Given the description of an element on the screen output the (x, y) to click on. 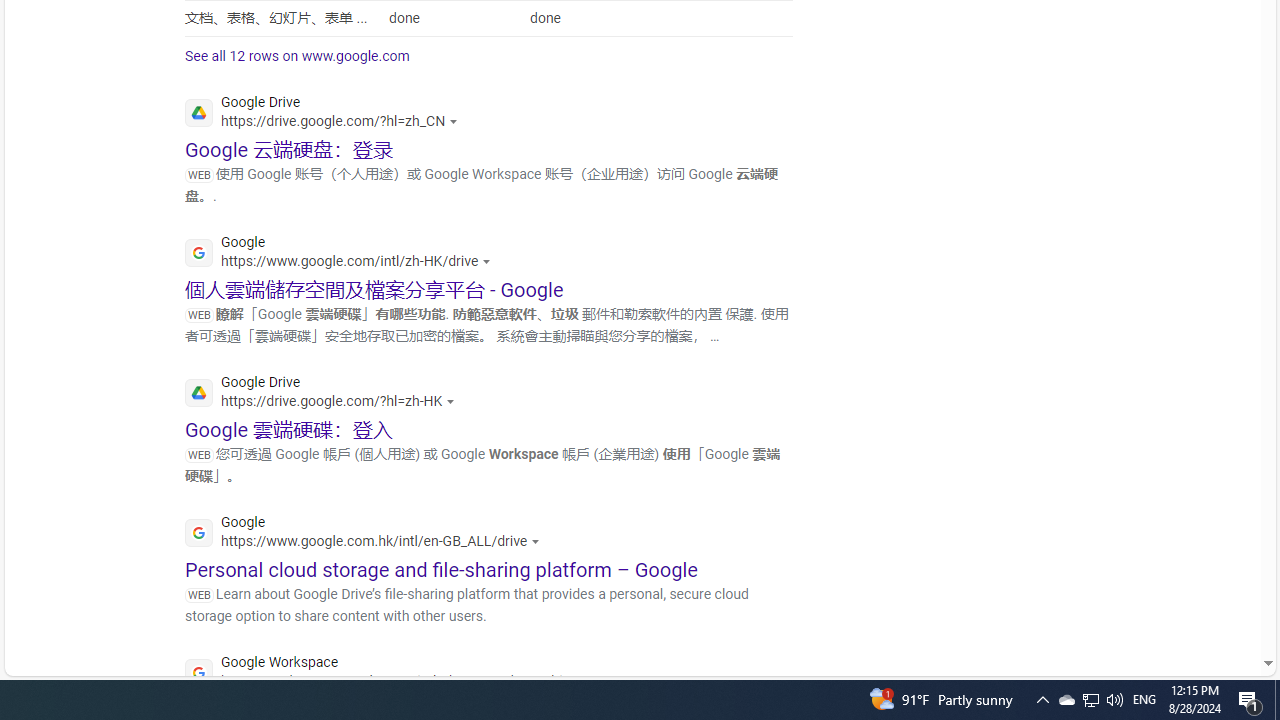
Search more (1222, 604)
Google (367, 534)
Actions for this site (588, 681)
Global web icon (198, 673)
Google Drive (325, 394)
AutomationID: mfa_root (1192, 603)
Google Workspace (392, 674)
